Given the description of an element on the screen output the (x, y) to click on. 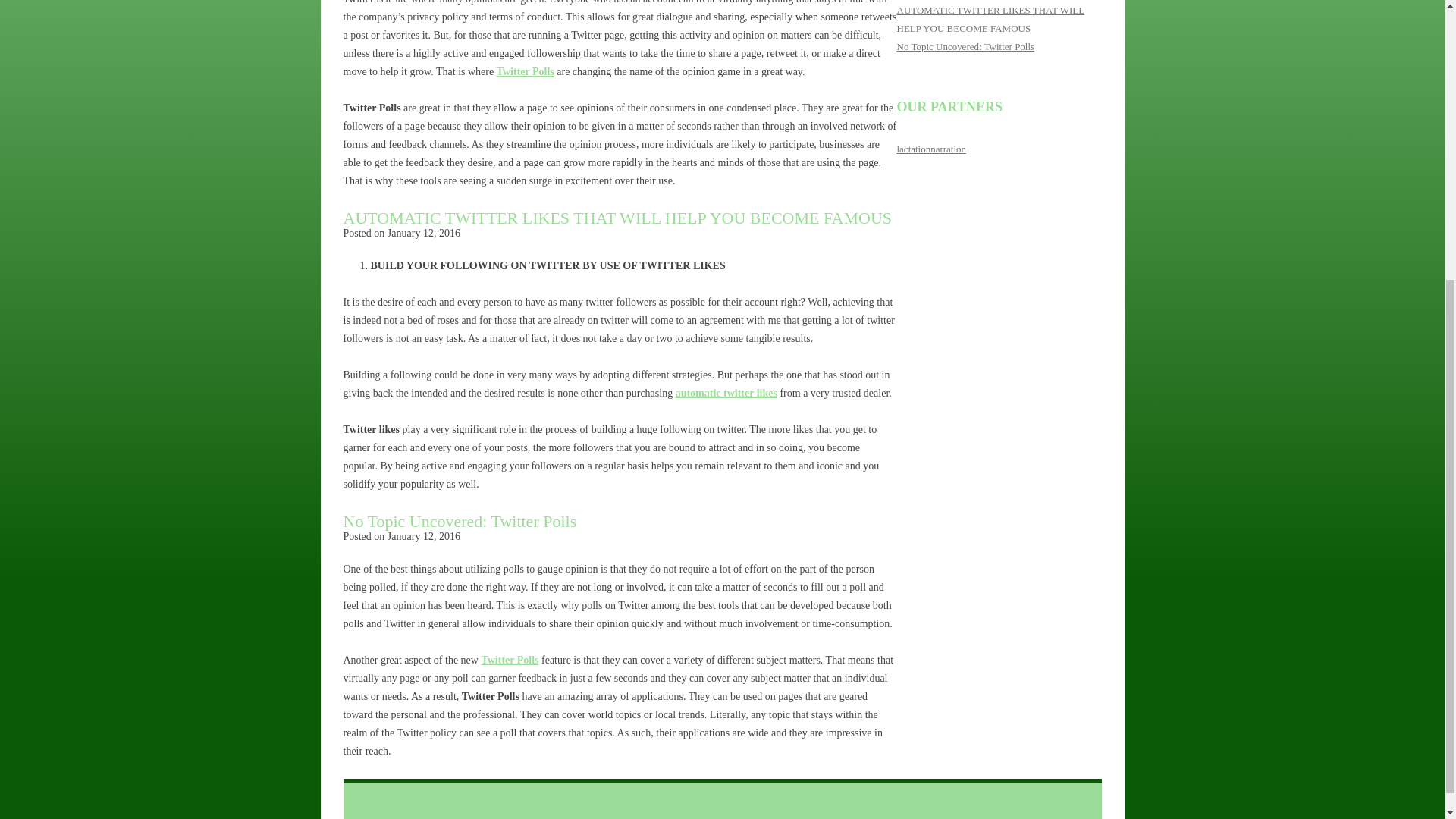
No Topic Uncovered: Twitter Polls (459, 520)
AUTOMATIC TWITTER LIKES THAT WILL HELP YOU BECOME FAMOUS (616, 217)
Twitter Polls (525, 71)
automatic twitter likes (726, 392)
lactationnarration (931, 148)
No Topic Uncovered: Twitter Polls (964, 46)
AUTOMATIC TWITTER LIKES THAT WILL HELP YOU BECOME FAMOUS (990, 19)
Twitter Polls (509, 659)
